Given the description of an element on the screen output the (x, y) to click on. 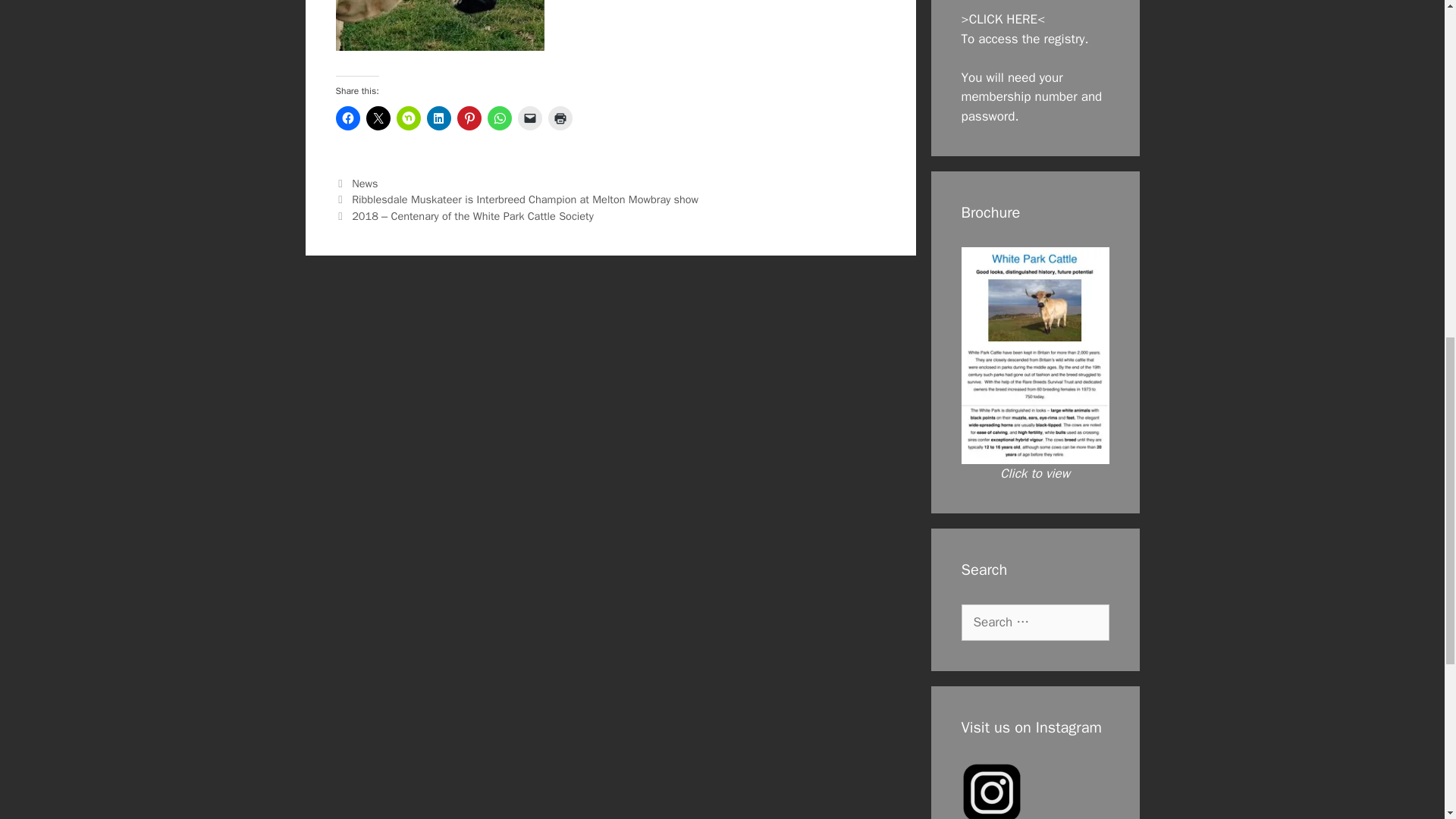
Click to share on WhatsApp (498, 118)
Click to share on Pinterest (468, 118)
Search for: (1034, 622)
News (364, 183)
Click to email a link to a friend (528, 118)
Scroll back to top (1406, 720)
Click to share on Facebook (346, 118)
Click to print (559, 118)
Click to share on Nextdoor (408, 118)
Click to share on LinkedIn (437, 118)
Click to share on X (377, 118)
